Given the description of an element on the screen output the (x, y) to click on. 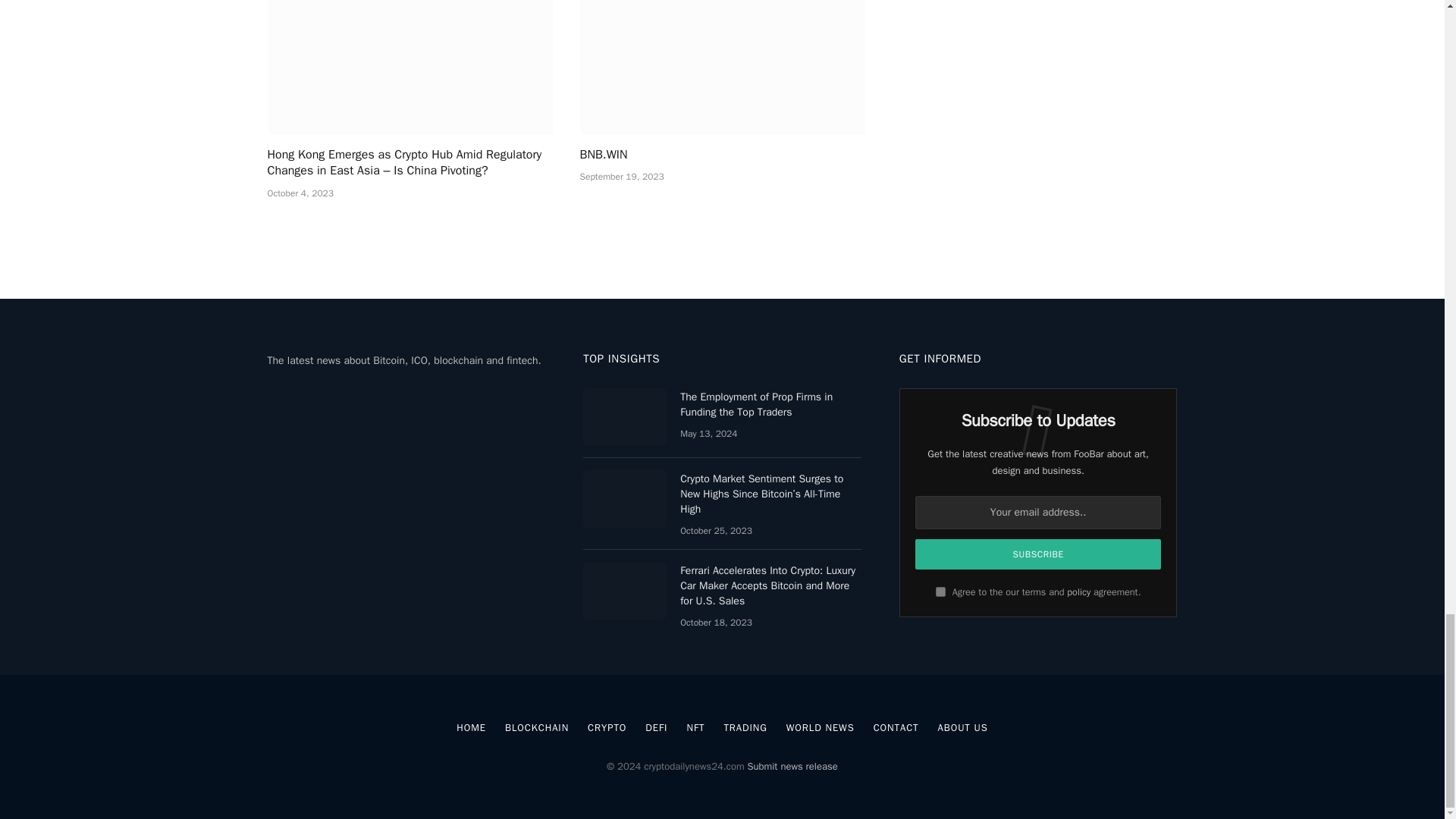
Subscribe (1038, 553)
on (940, 592)
